Given the description of an element on the screen output the (x, y) to click on. 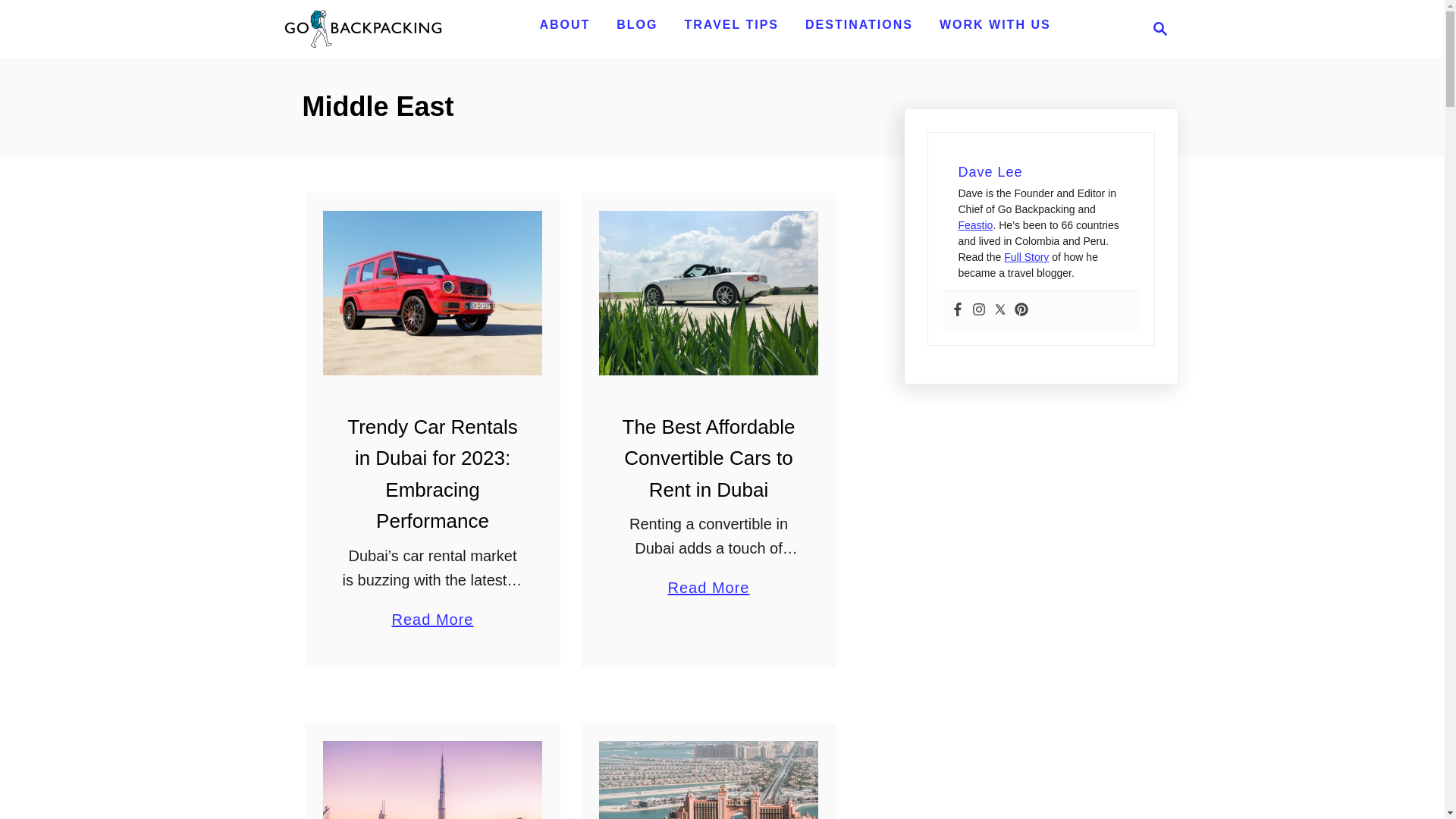
About (563, 24)
ABOUT (563, 24)
Travel Tips (731, 24)
BLOG (636, 24)
Magnifying Glass (1160, 28)
DESTINATIONS (858, 24)
TRAVEL TIPS (731, 24)
Destinations (858, 24)
Blog (636, 24)
